Given the description of an element on the screen output the (x, y) to click on. 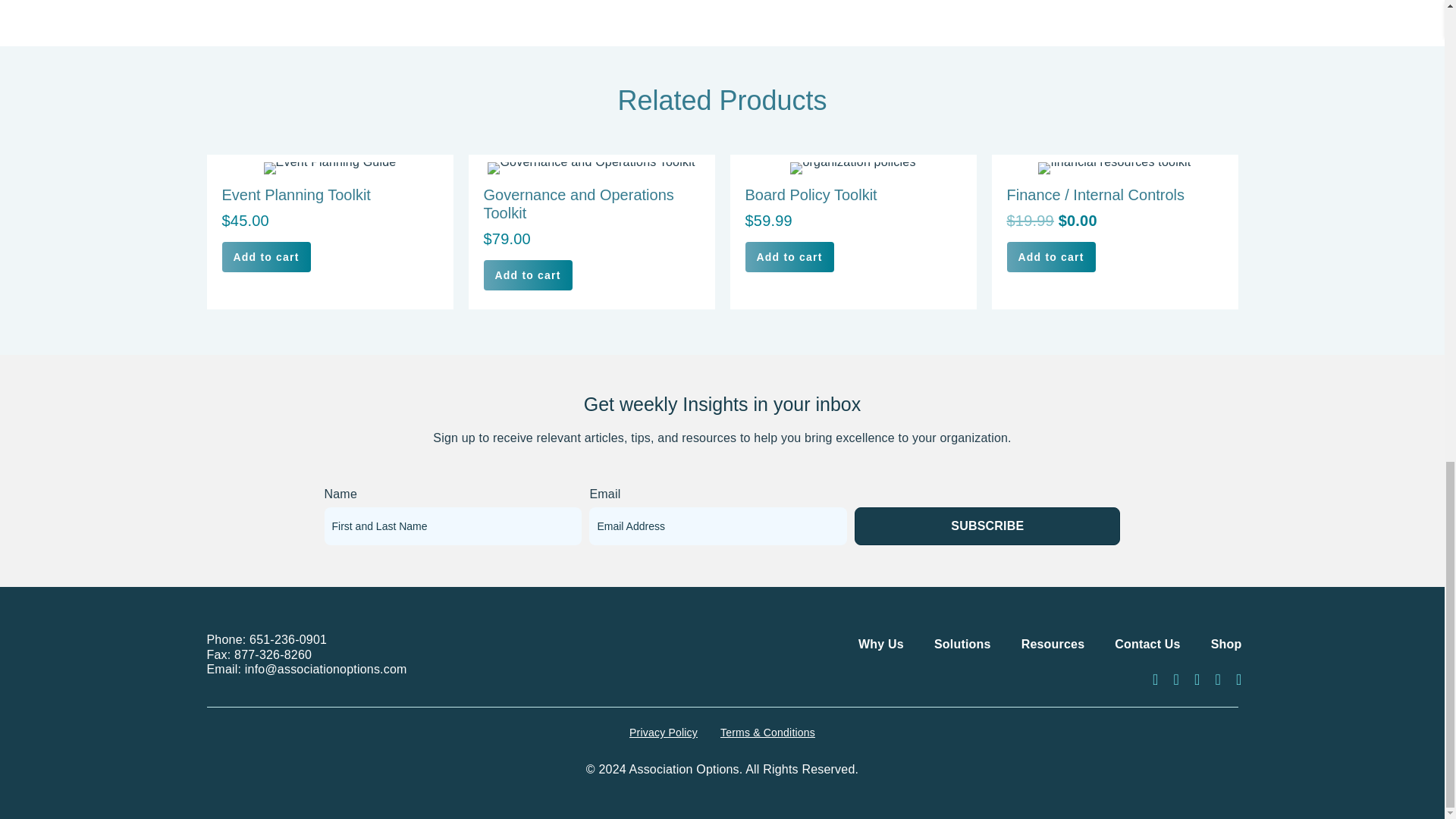
financial-toolkit (1114, 168)
Governance and Operations Toolkit (591, 231)
Event-Planning (329, 168)
organization policies (852, 168)
Governance-and-Operations-Toolkit. (590, 168)
Event Planning Toolkit (329, 231)
Board Policy Toolkit (852, 231)
